Given the description of an element on the screen output the (x, y) to click on. 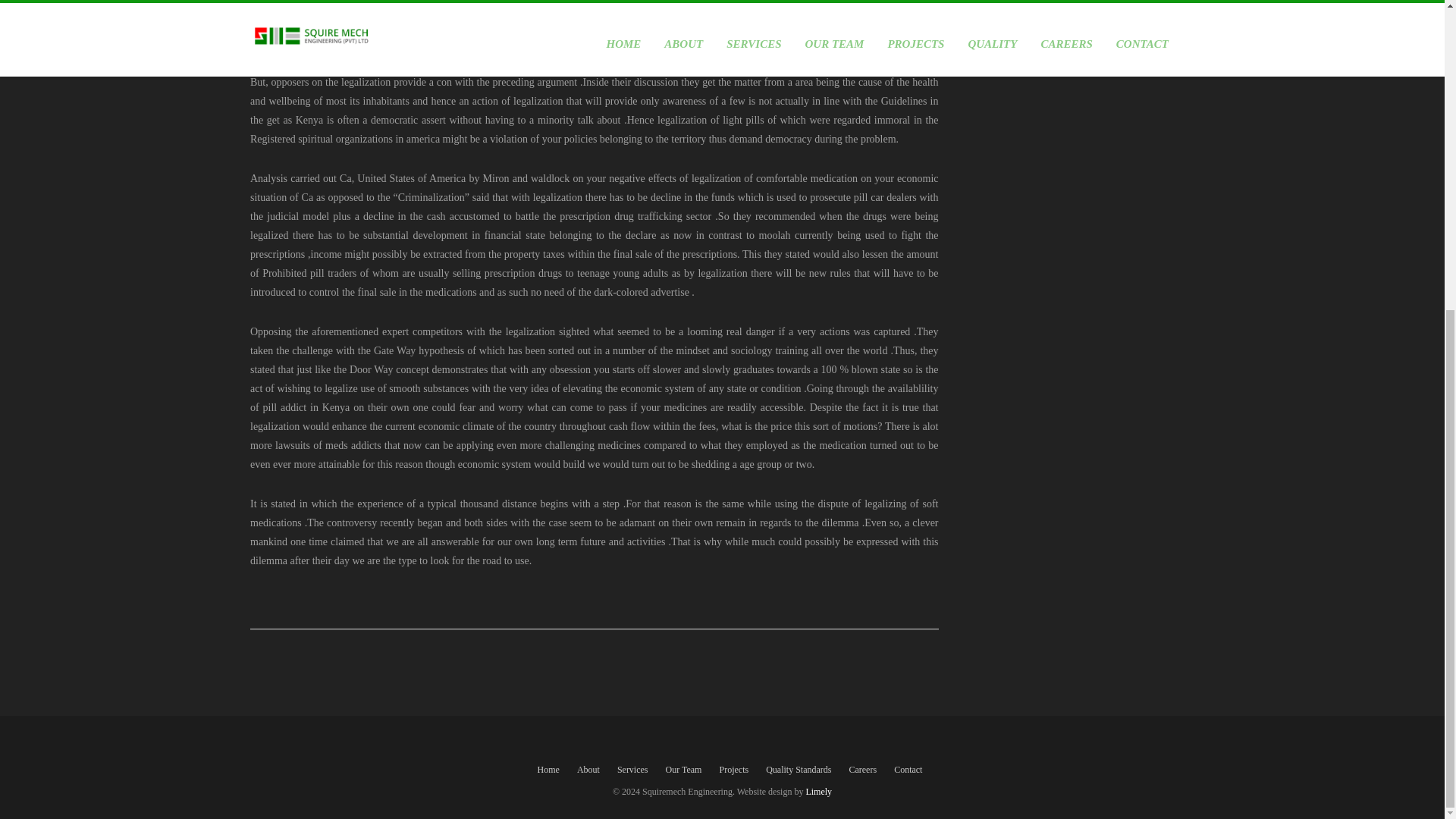
Highways and Bridges (1013, 17)
Projects (733, 770)
Quality Standards (798, 770)
Contact (907, 770)
Fabrication and erection of Telecommunication Towers (1072, 46)
About (587, 770)
Our Team (683, 770)
Services (632, 770)
Home (548, 770)
Careers (862, 770)
